Given the description of an element on the screen output the (x, y) to click on. 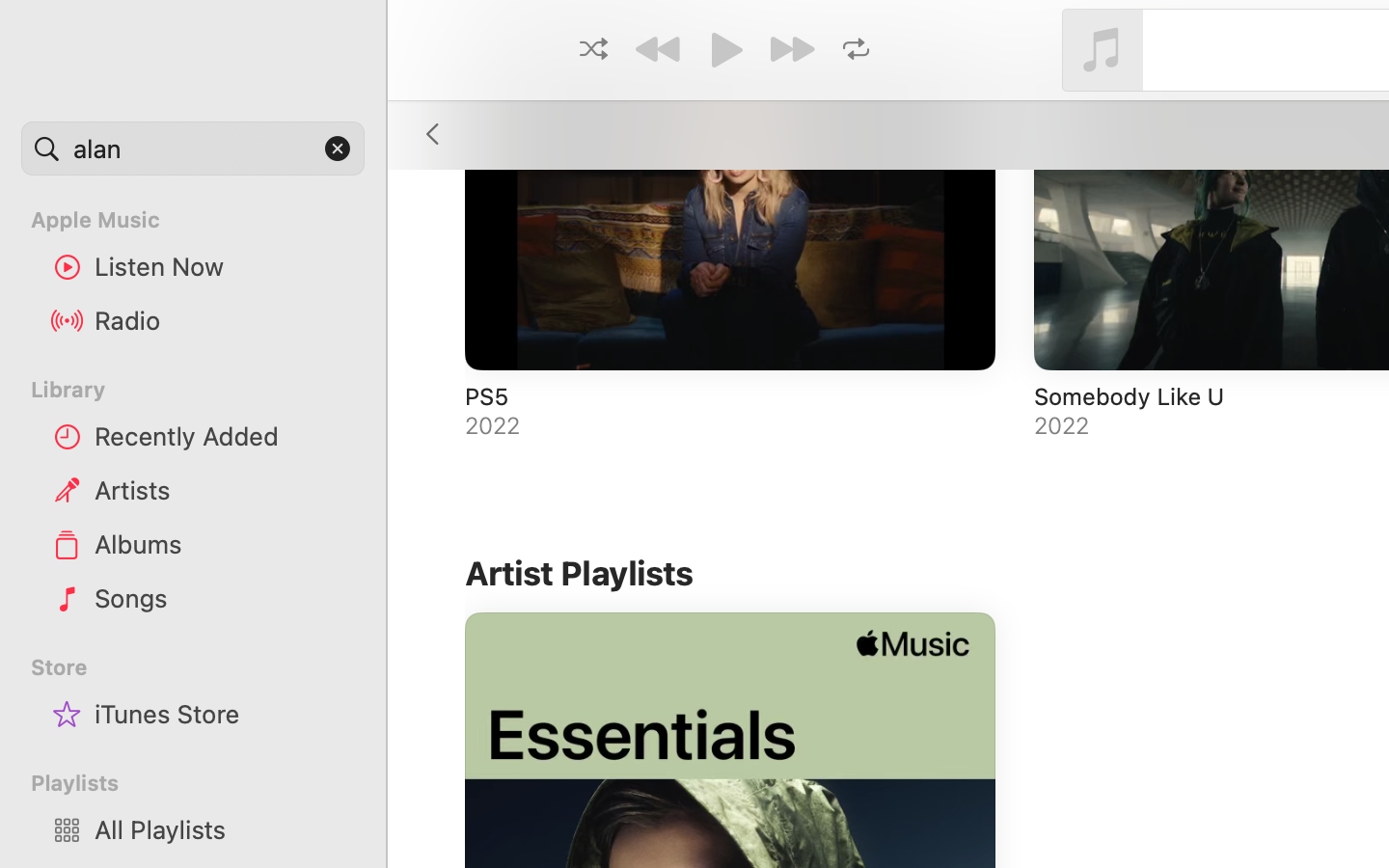
Playlists Element type: AXStaticText (204, 782)
Listen Now Element type: AXStaticText (222, 265)
Recently Added Element type: AXStaticText (222, 435)
Radio Element type: AXStaticText (222, 319)
Library Element type: AXStaticText (191, 389)
